Given the description of an element on the screen output the (x, y) to click on. 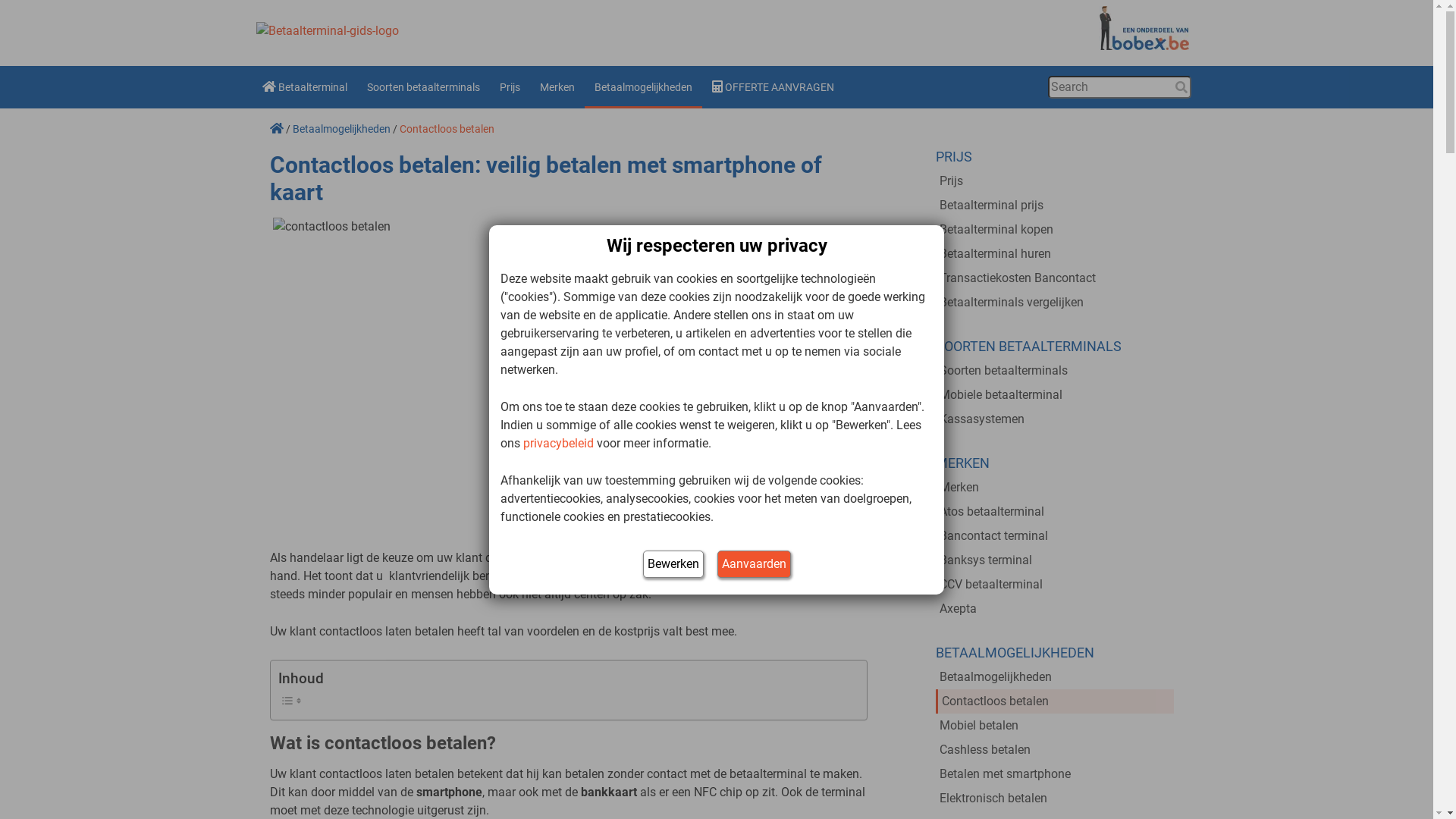
Cashless betalen Element type: text (1054, 749)
Aanvaarden Element type: text (753, 563)
Bancontact terminal Element type: text (1054, 536)
OFFERTE AANVRAGEN Element type: text (773, 86)
Soorten betaalterminals Element type: text (422, 86)
Betaalterminal kopen Element type: text (1054, 229)
Betaalterminal huren Element type: text (1054, 253)
privacybeleid Element type: text (558, 442)
Betaalterminal Element type: text (303, 86)
Merken Element type: text (556, 86)
Betaalmogelijkheden Element type: text (642, 86)
Betalen met smartphone Element type: text (1054, 774)
Bewerken Element type: text (673, 563)
Soorten betaalterminals Element type: text (1054, 370)
Atos betaalterminal Element type: text (1054, 511)
Merken Element type: text (1054, 487)
Transactiekosten Bancontact Element type: text (1054, 278)
Prijs Element type: text (509, 86)
Axepta Element type: text (1054, 608)
Contactloos betalen Element type: text (1054, 701)
Betaalmogelijkheden Element type: text (341, 128)
Kassasystemen Element type: text (1054, 419)
Mobiel betalen Element type: text (1054, 725)
Betaalterminal prijs Element type: text (1054, 205)
CCV betaalterminal Element type: text (1054, 584)
Betaalmogelijkheden Element type: text (1054, 677)
Prijs Element type: text (1054, 181)
Betaalterminals vergelijken Element type: text (1054, 302)
Banksys terminal Element type: text (1054, 560)
Elektronisch betalen Element type: text (1054, 798)
Mobiele betaalterminal Element type: text (1054, 394)
